Given the description of an element on the screen output the (x, y) to click on. 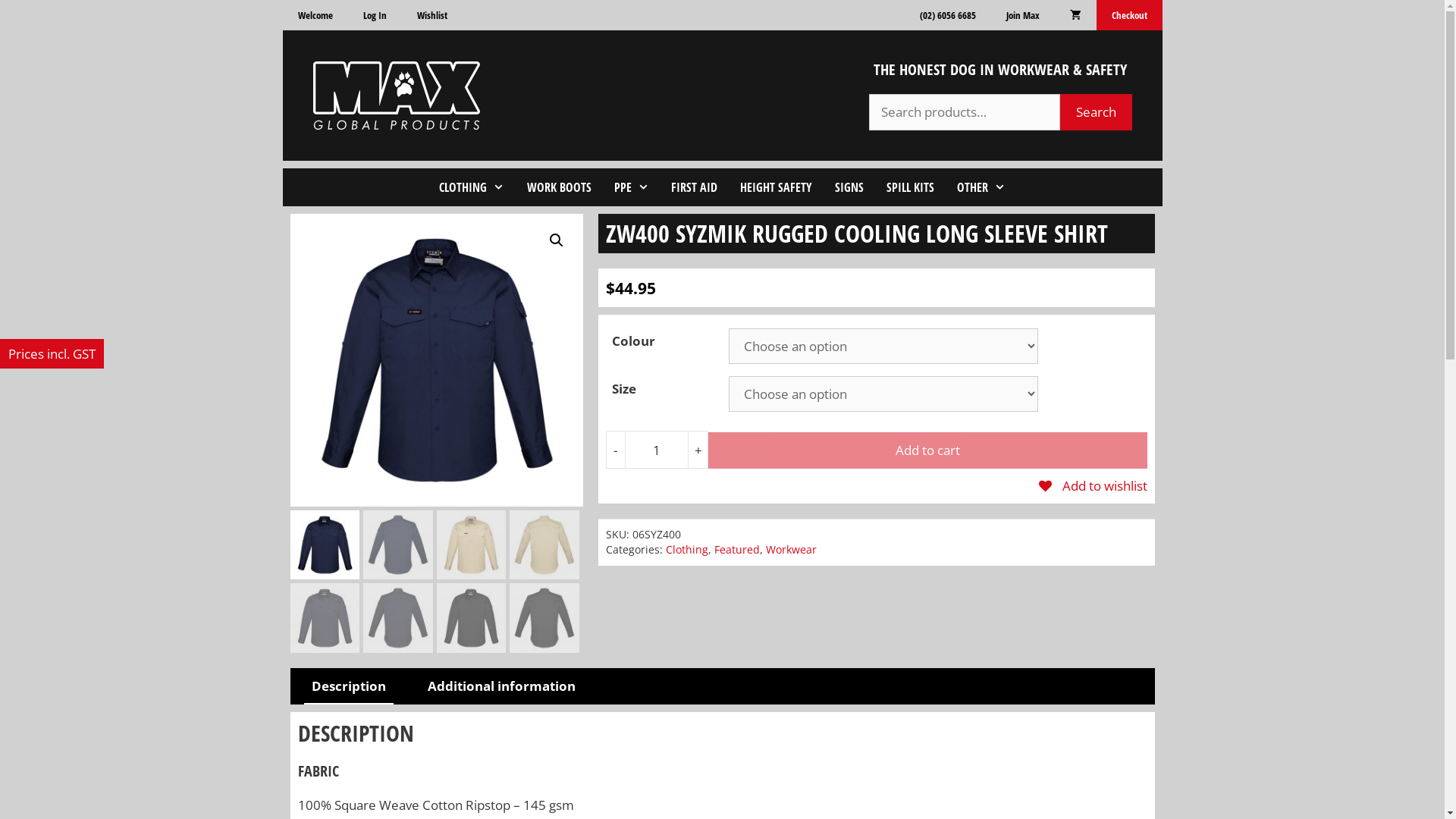
SPILL KITS Element type: text (910, 187)
SIGNS Element type: text (849, 187)
(02) 6056 6685 Element type: text (946, 15)
Add to cart Element type: text (927, 450)
Search Element type: text (1096, 112)
Additional information Element type: text (501, 686)
Syzmik_0004s_0000_ZW400_Navy_F Element type: hover (435, 359)
Wishlist Element type: text (431, 15)
FIRST AID Element type: text (693, 187)
Welcome Element type: text (314, 15)
- Element type: text (614, 449)
View your shopping cart Element type: hover (1074, 15)
Max Global Products Element type: hover (395, 93)
WORK BOOTS Element type: text (558, 187)
CLOTHING Element type: text (471, 187)
HEIGHT SAFETY Element type: text (775, 187)
Workwear Element type: text (790, 549)
PPE Element type: text (631, 187)
Clothing Element type: text (686, 549)
Max Global Products Element type: hover (395, 95)
+ Element type: text (698, 449)
Add to wishlist Element type: text (1092, 485)
Log In Element type: text (374, 15)
Description Element type: text (347, 686)
Join Max Element type: text (1022, 15)
Qty Element type: hover (656, 449)
Featured Element type: text (736, 549)
Prices incl. GST Element type: text (51, 353)
Checkout Element type: text (1129, 15)
OTHER Element type: text (980, 187)
